Given the description of an element on the screen output the (x, y) to click on. 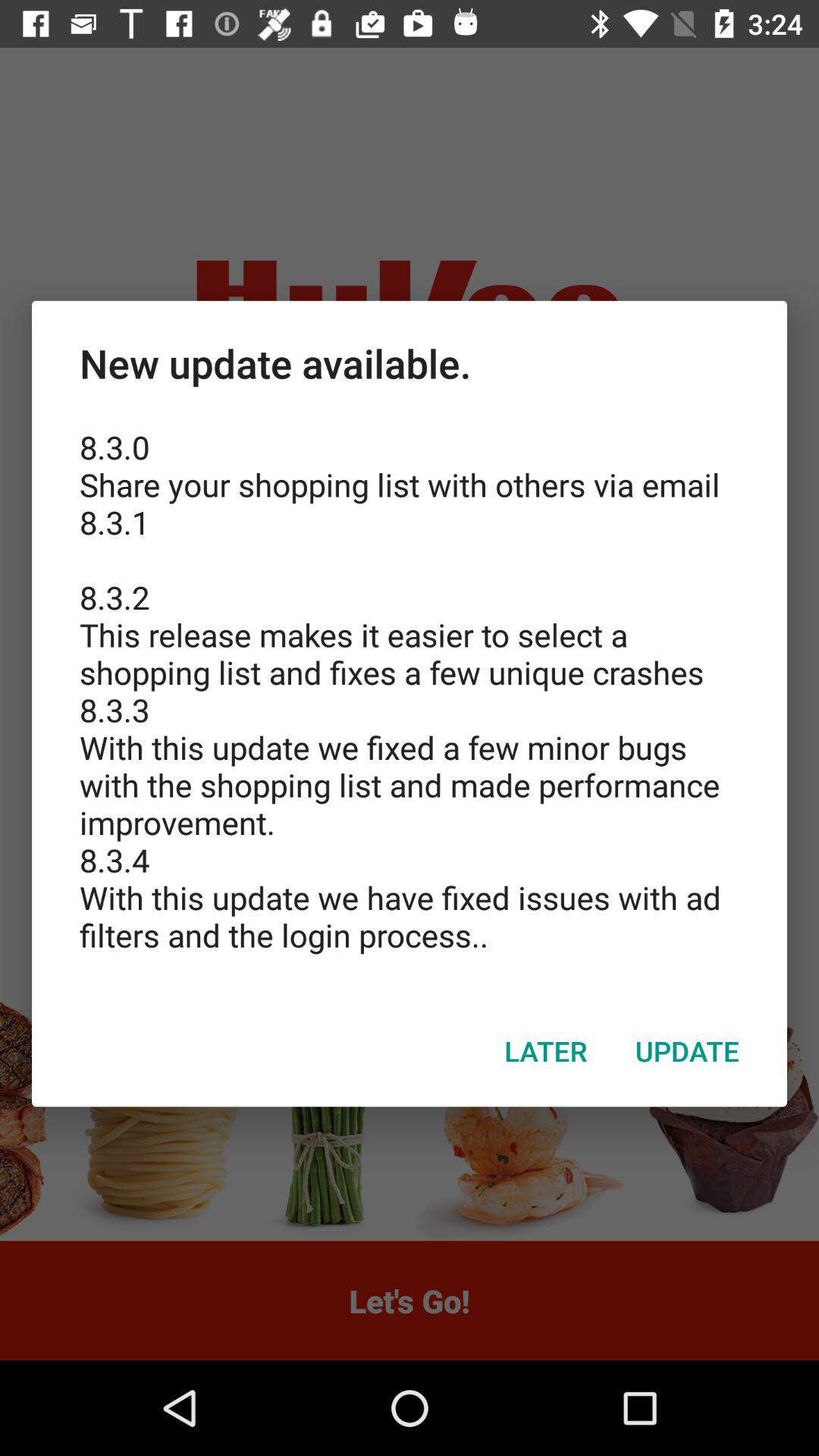
select the icon to the left of the update (545, 1050)
